Given the description of an element on the screen output the (x, y) to click on. 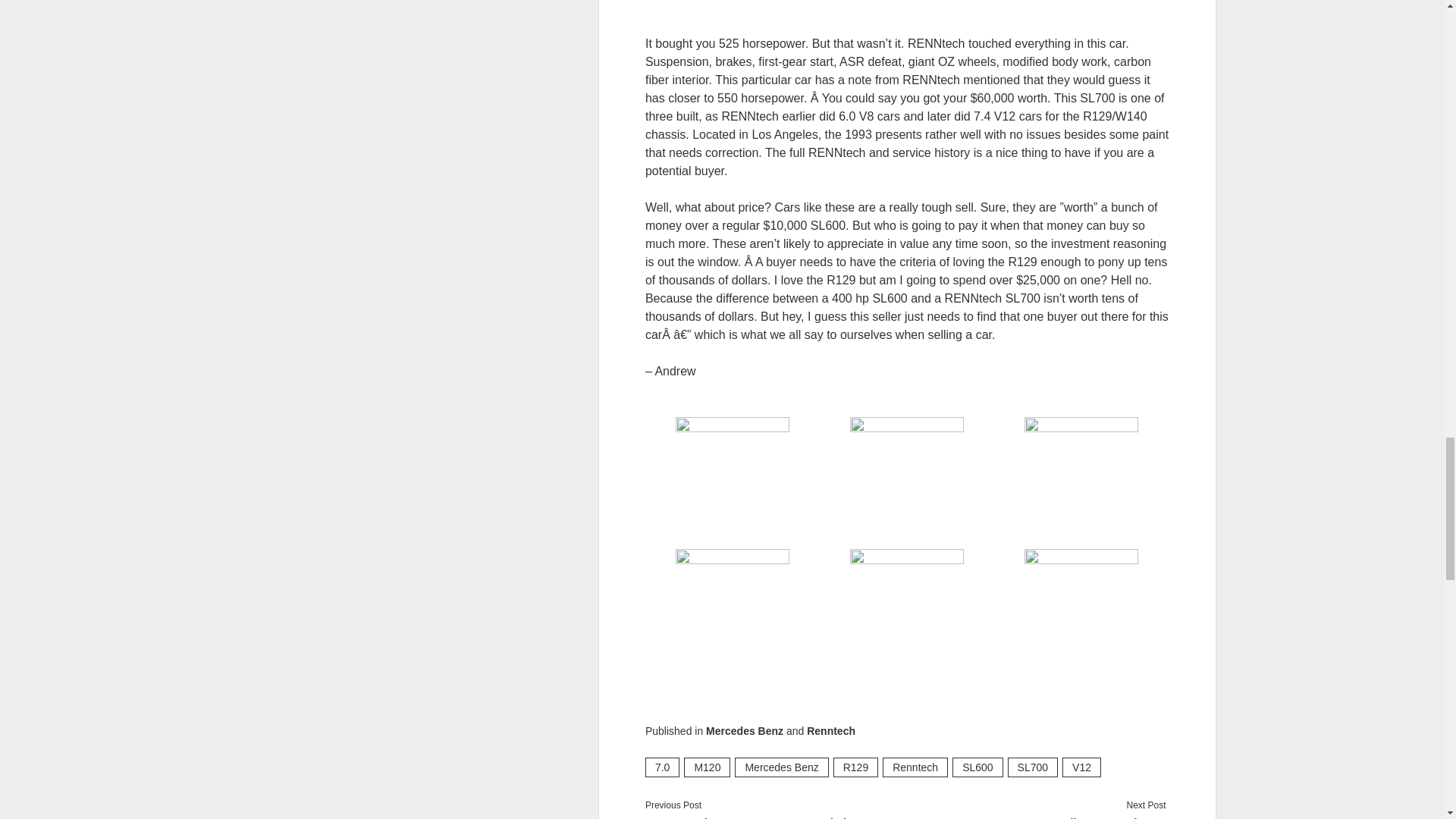
Mercedes Benz (744, 730)
View all posts in Renntech (831, 730)
1981 Volkswagen Scirocco (1035, 816)
R129 (854, 767)
Mercedes Benz (781, 767)
View all posts tagged SL600 (977, 767)
View all posts tagged R129 (854, 767)
View all posts tagged M120 (707, 767)
View all posts tagged V12 (1081, 767)
7.0 (662, 767)
